Given the description of an element on the screen output the (x, y) to click on. 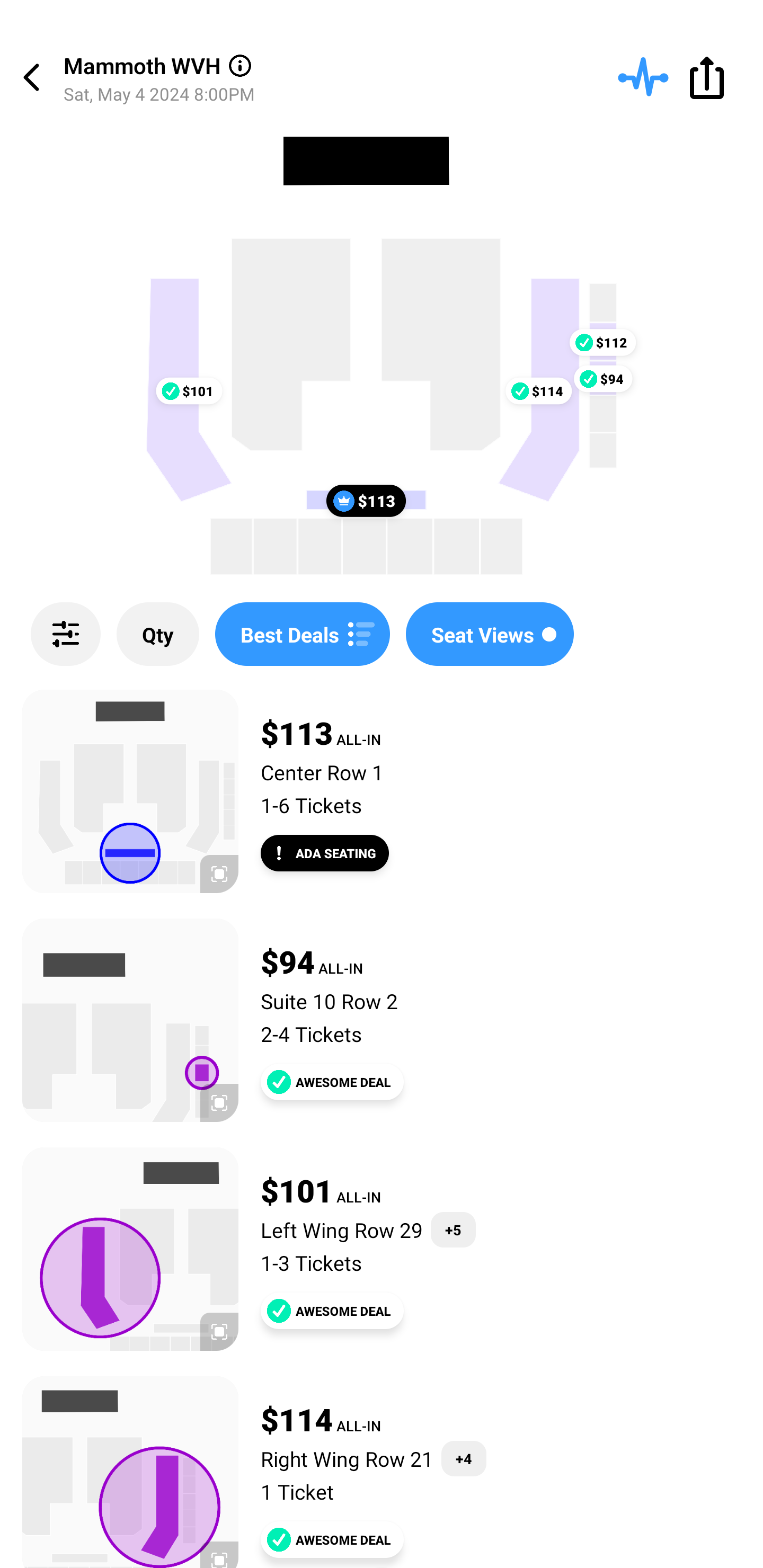
Qty (157, 634)
Best Deals (302, 634)
Seat Views (489, 634)
ADA SEATING (324, 852)
AWESOME DEAL (331, 1081)
+5 (453, 1230)
AWESOME DEAL (331, 1310)
+4 (463, 1458)
AWESOME DEAL (331, 1539)
